Given the description of an element on the screen output the (x, y) to click on. 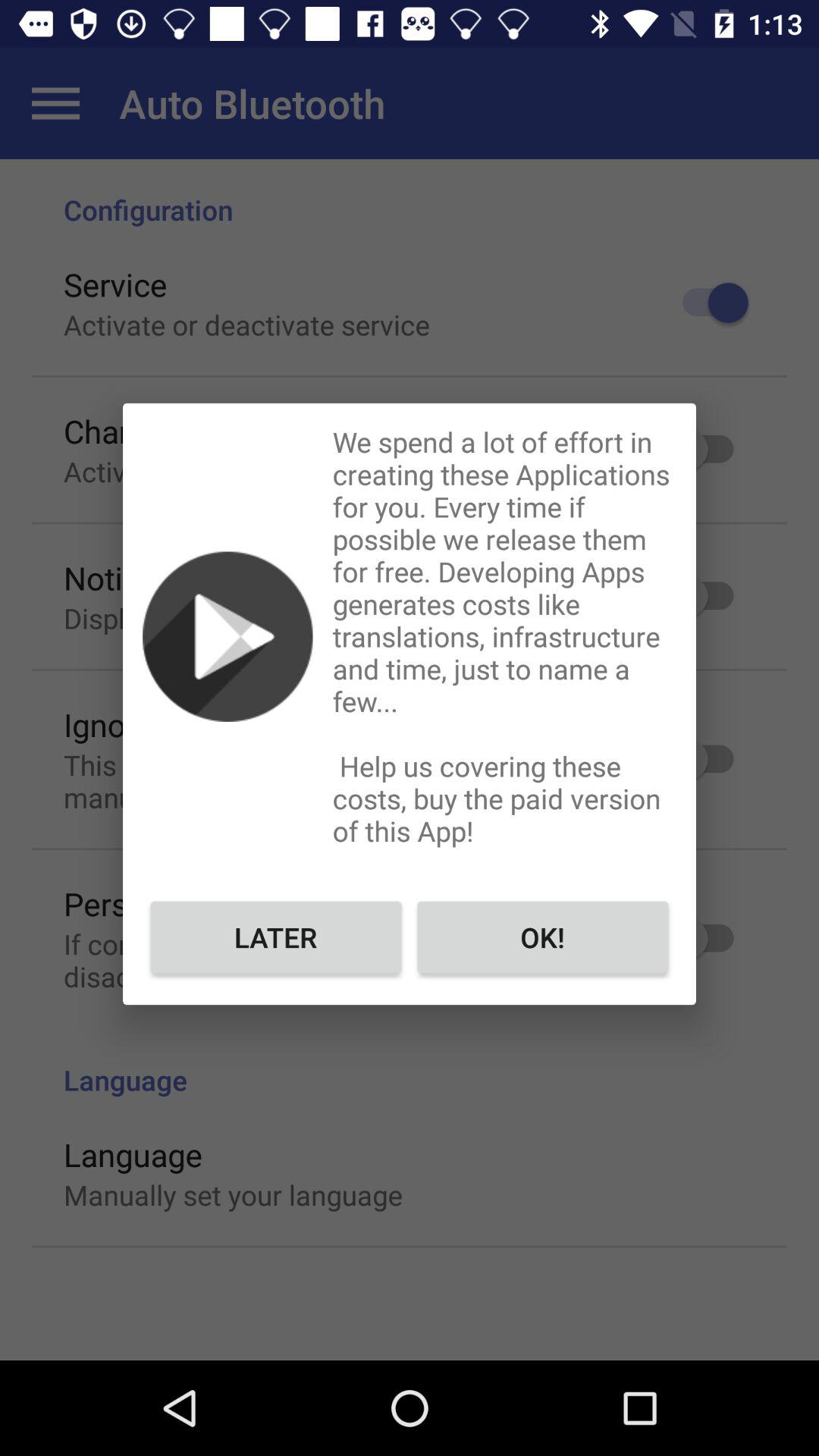
click item next to later button (542, 937)
